Given the description of an element on the screen output the (x, y) to click on. 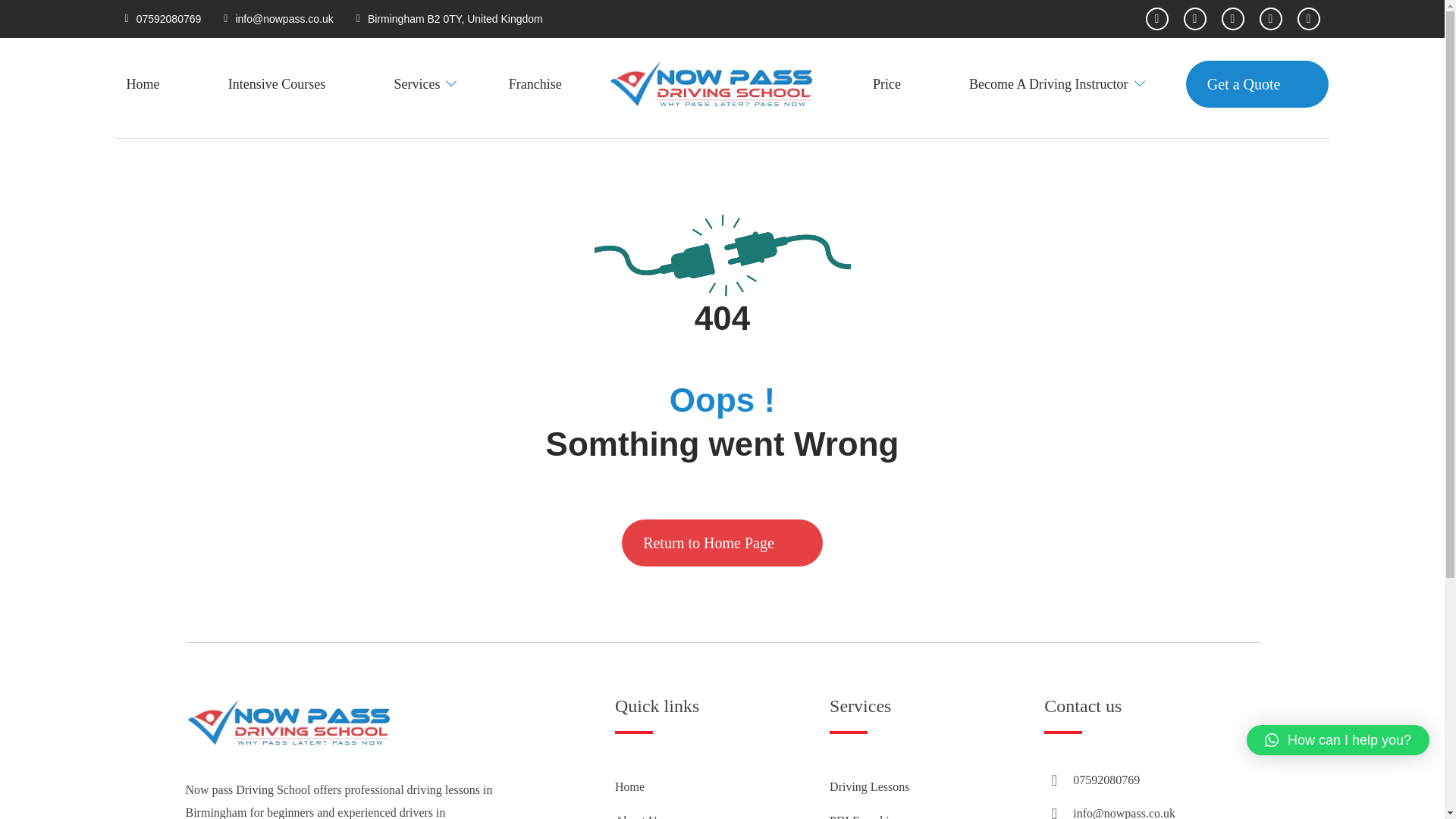
Franchise (534, 82)
Services (415, 82)
Price (886, 82)
Return to Home Page (721, 542)
Get a Quote (1257, 83)
07592080769 (169, 19)
Become A Driving Instructor (1048, 82)
Intensive Courses (276, 82)
Home (142, 82)
Home (629, 786)
About Us (638, 816)
